Given the description of an element on the screen output the (x, y) to click on. 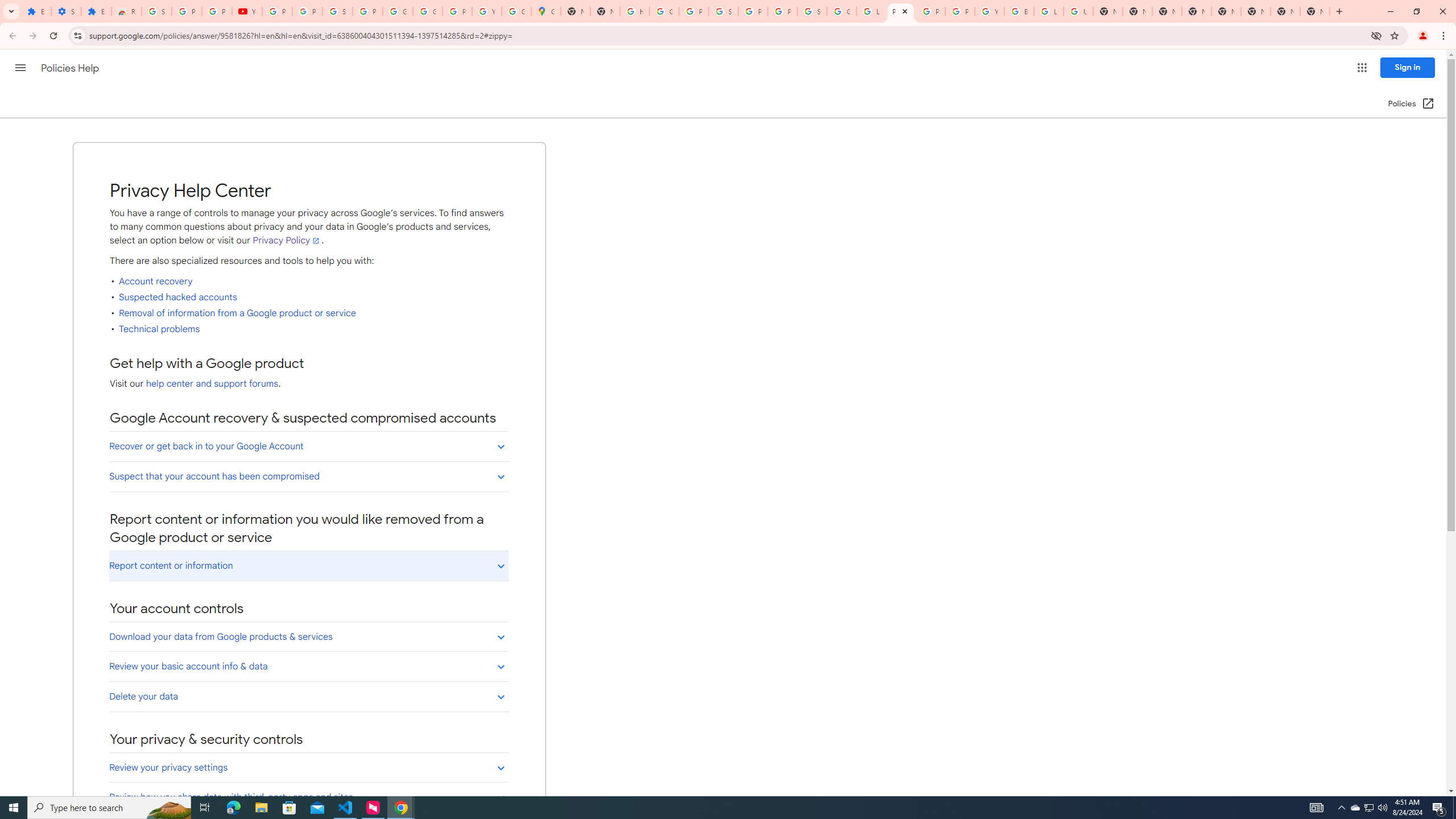
Sign in - Google Accounts (811, 11)
help center and support forums (211, 383)
Main menu (20, 67)
Extensions (36, 11)
Privacy Policy (286, 240)
Settings (65, 11)
Address and search bar (726, 35)
Privacy Help Center - Policies Help (900, 11)
